Given the description of an element on the screen output the (x, y) to click on. 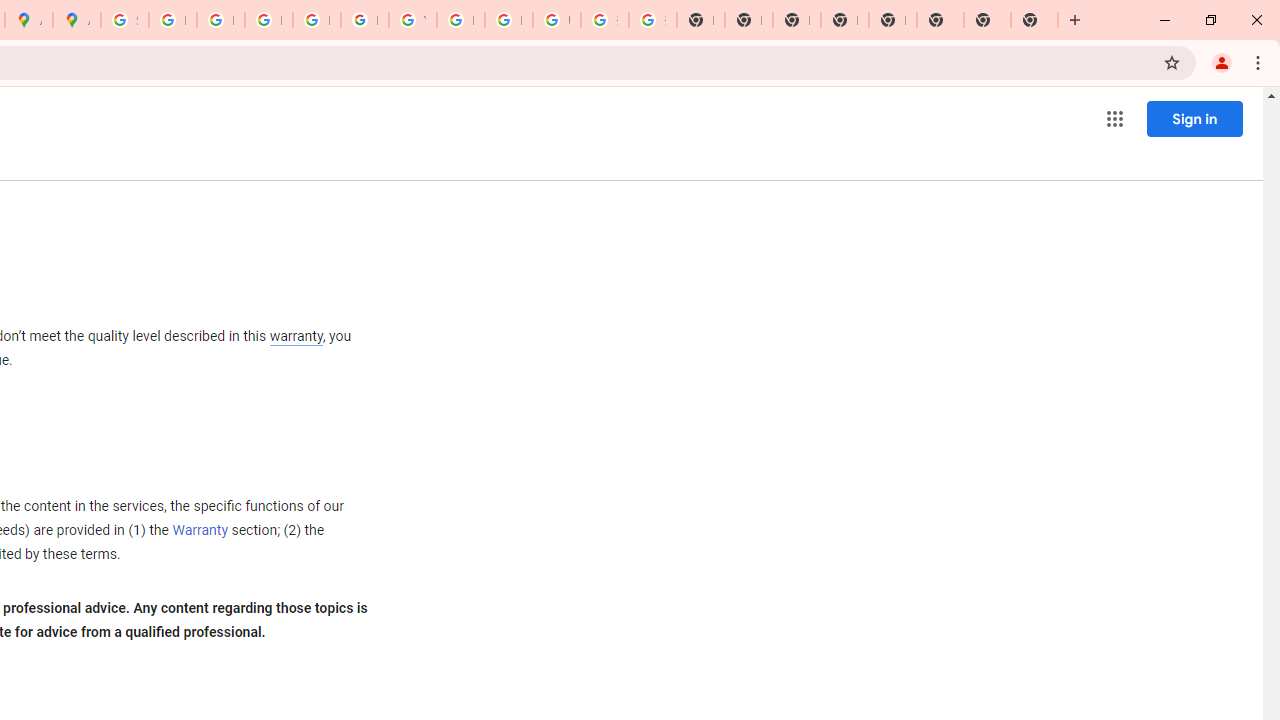
Sign in - Google Accounts (124, 20)
New Tab (892, 20)
Browse Chrome as a guest - Computer - Google Chrome Help (460, 20)
warranty (295, 337)
YouTube (412, 20)
